Given the description of an element on the screen output the (x, y) to click on. 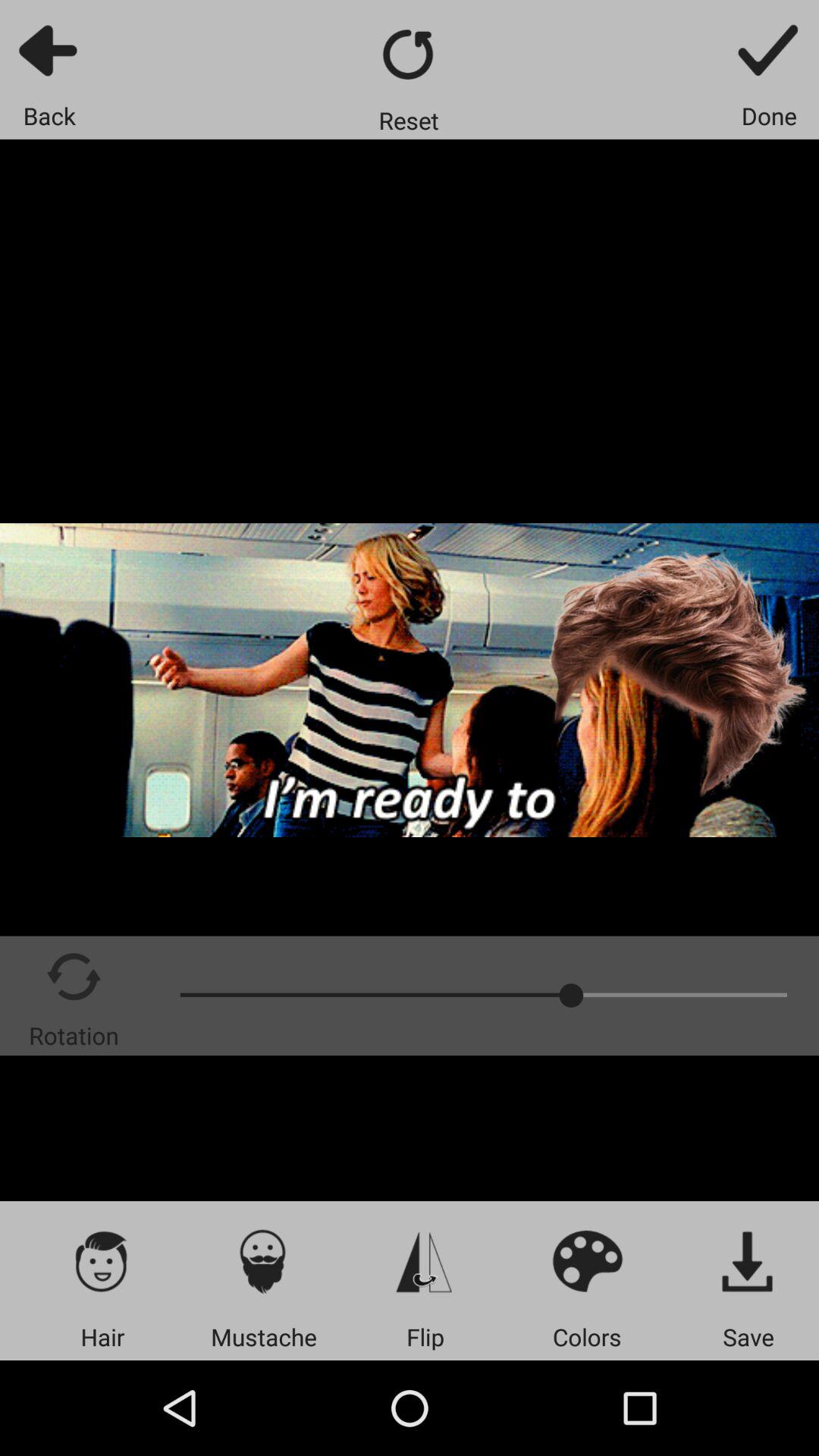
done button (769, 49)
